Given the description of an element on the screen output the (x, y) to click on. 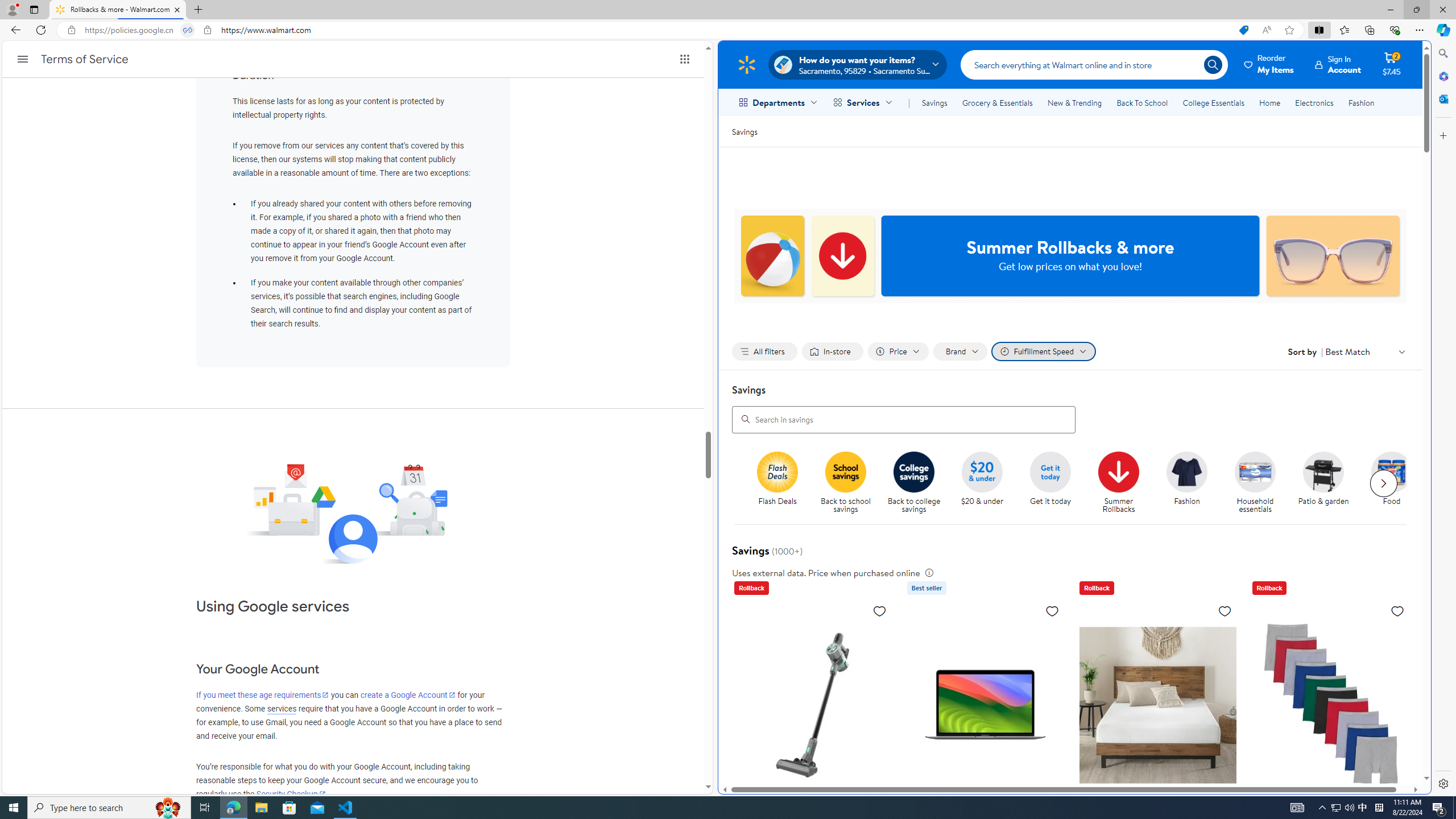
Search in savings (903, 419)
Fashion (1191, 483)
Savings (933, 102)
Summer Rollbacks (1123, 483)
Household essentials Household essentials (1254, 483)
Filter by In-store (831, 351)
Fashion (1186, 471)
Food (1391, 471)
Flash deals (777, 471)
